Given the description of an element on the screen output the (x, y) to click on. 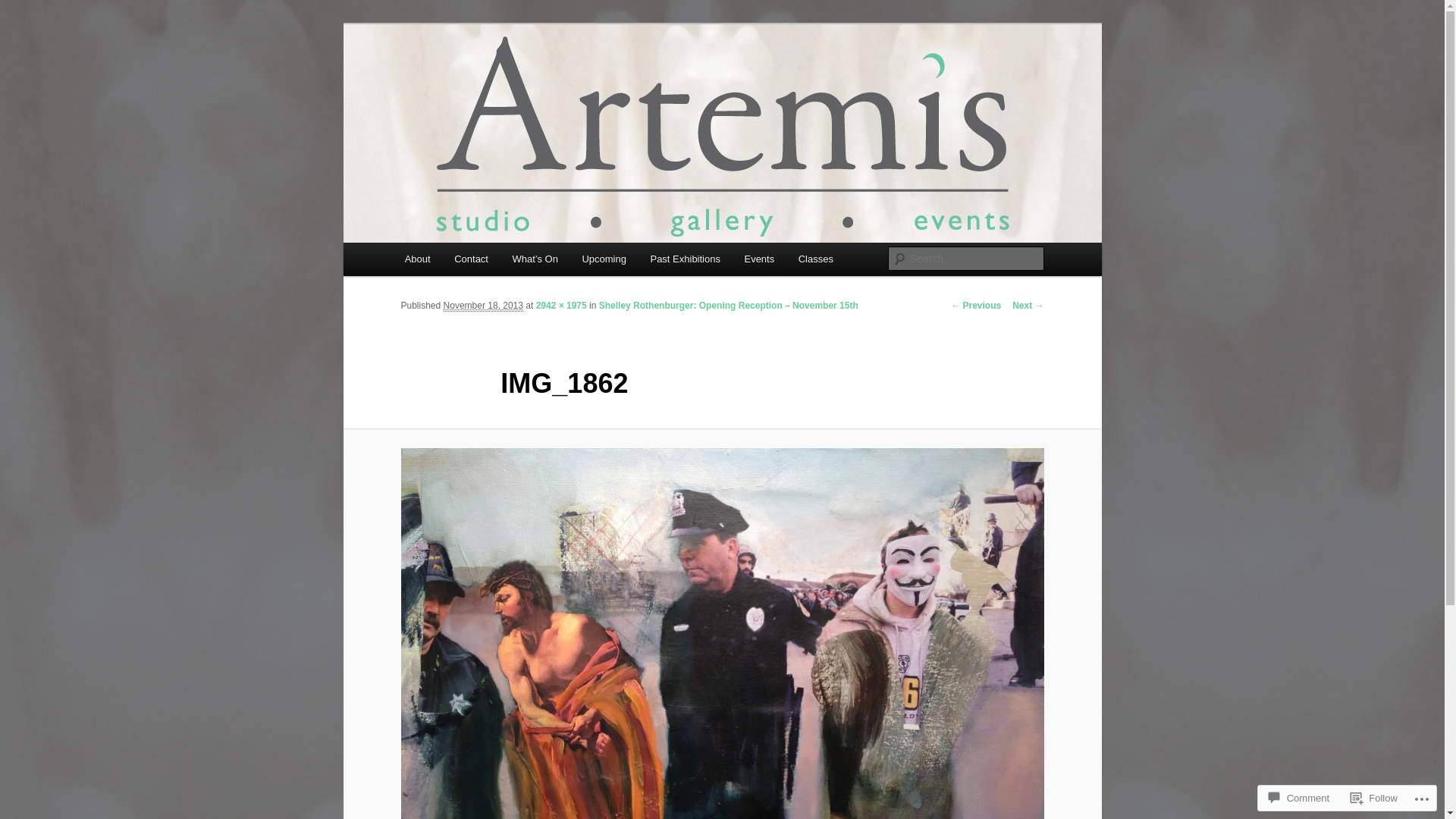
Follow Element type: text (1373, 797)
Comment Element type: text (1298, 797)
Past Exhibitions Element type: text (685, 258)
Upcoming Element type: text (604, 258)
About Element type: text (417, 258)
Events Element type: text (759, 258)
Classes Element type: text (815, 258)
Artemis Gallery in Deep Cove Element type: text (559, 78)
Contact Element type: text (470, 258)
Skip to primary content Element type: text (22, 22)
Search Element type: text (24, 8)
